Given the description of an element on the screen output the (x, y) to click on. 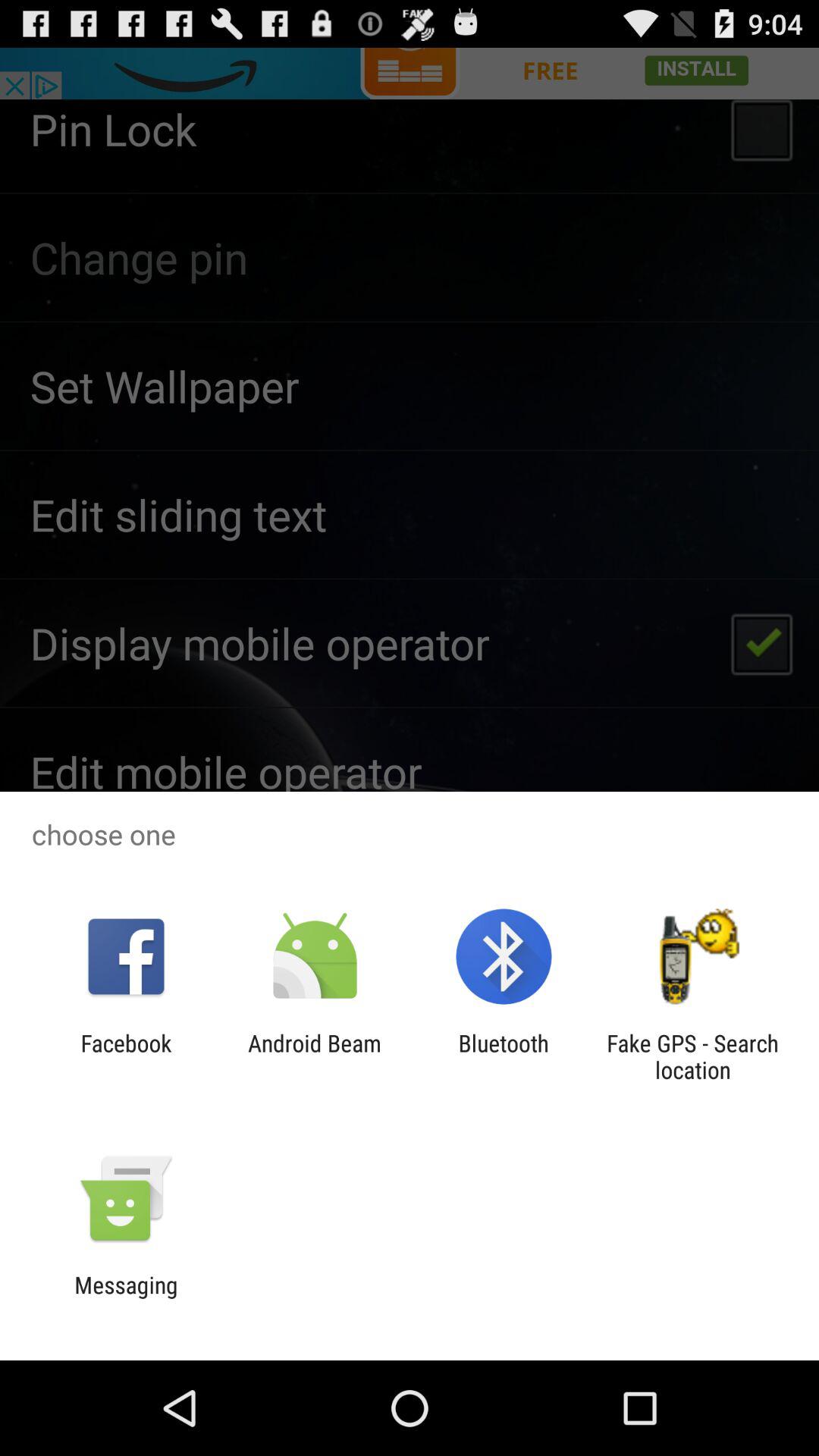
turn on the icon to the left of bluetooth (314, 1056)
